Given the description of an element on the screen output the (x, y) to click on. 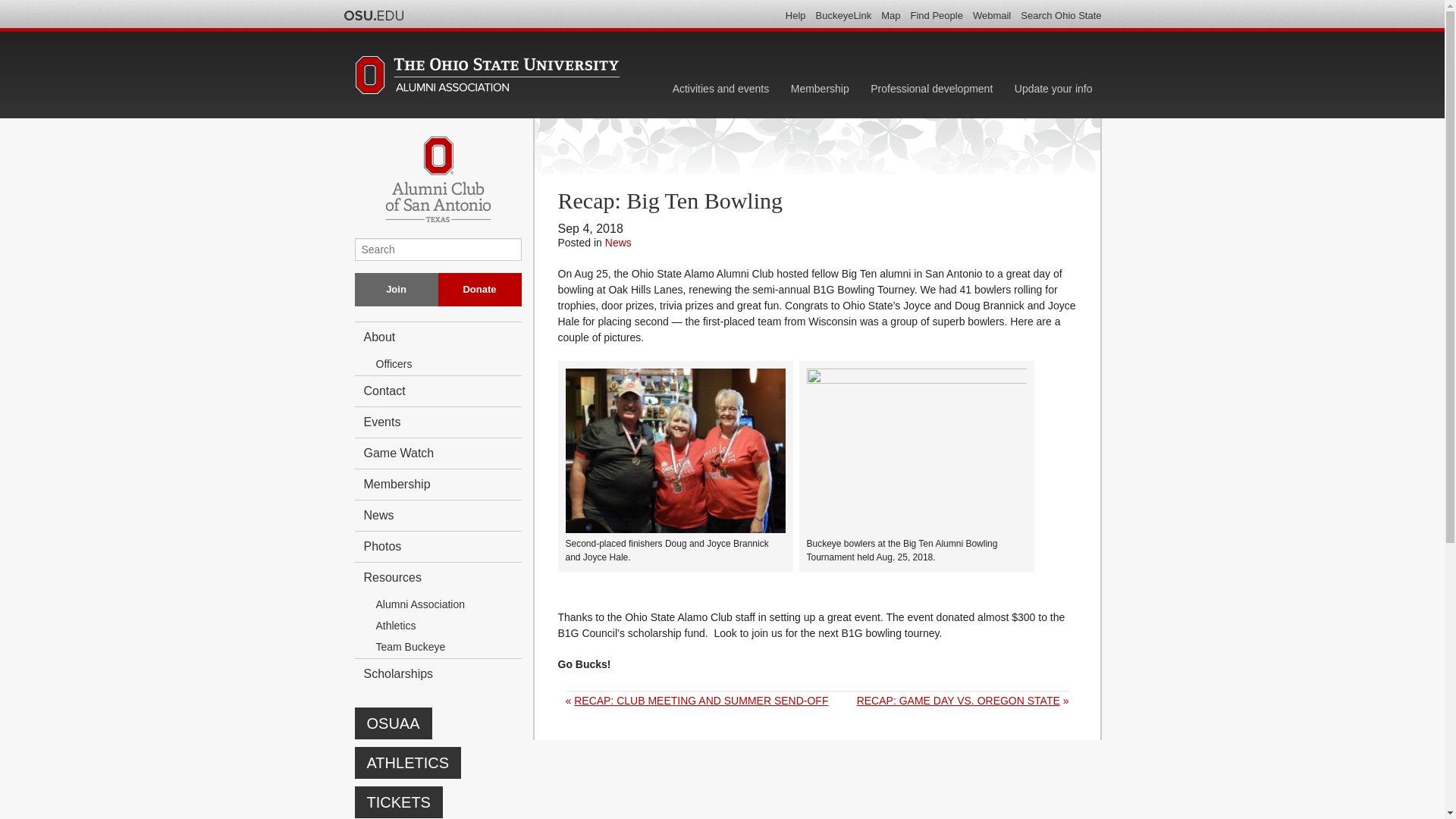
Photos (438, 545)
About (438, 336)
OSUAA (393, 723)
Athletics (444, 625)
ATHLETICS (408, 762)
Search Ohio State (1060, 15)
Resources (438, 576)
Find People (936, 15)
Help (796, 15)
Map (889, 15)
The Ohio State University (372, 15)
Game Watch (438, 452)
News (438, 514)
Webmail (991, 15)
News (618, 242)
